Given the description of an element on the screen output the (x, y) to click on. 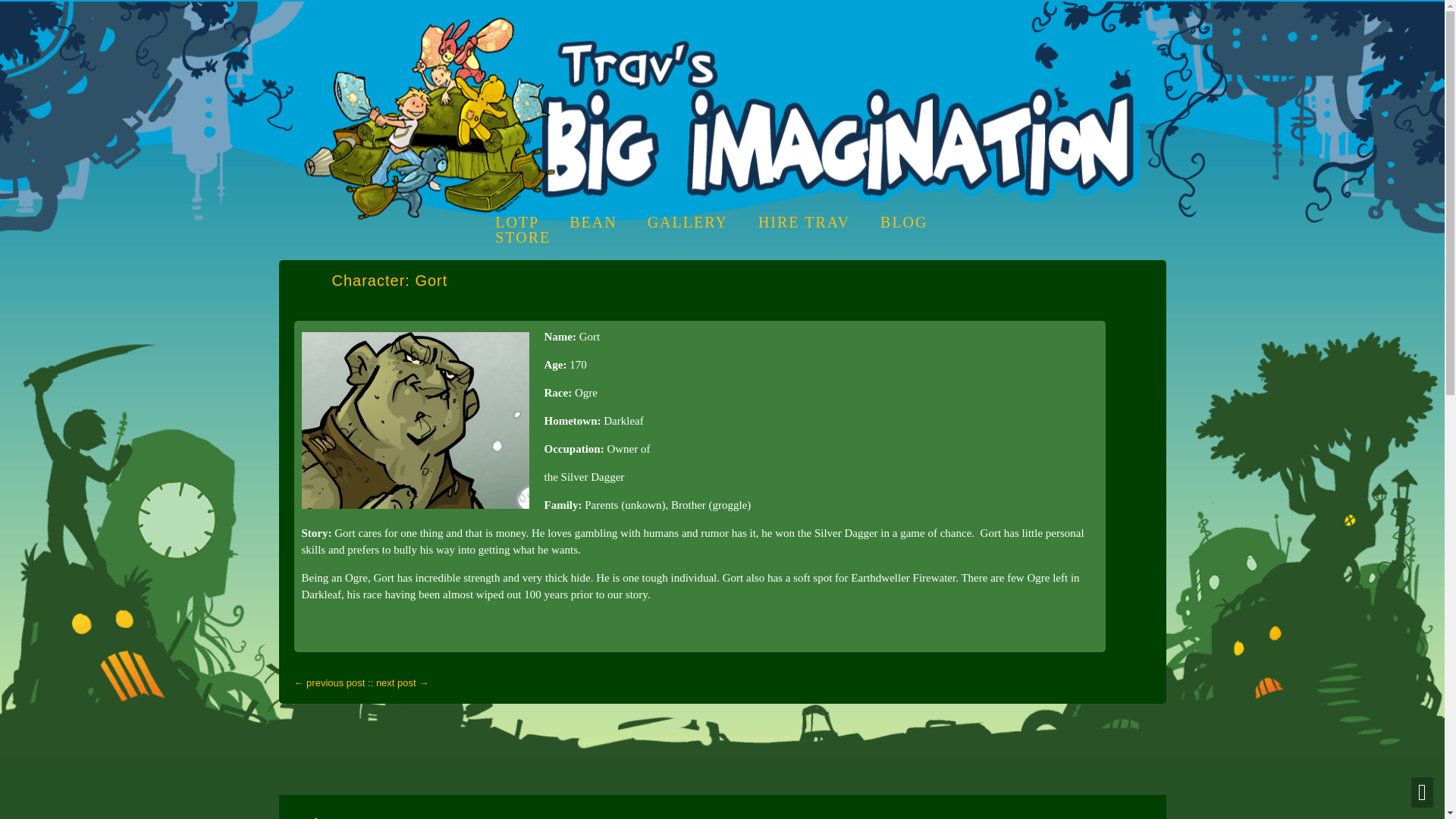
GALLERY (687, 221)
BEAN (592, 221)
BLOG (903, 221)
LOTP (516, 221)
gort (415, 420)
HIRE TRAV (804, 221)
STORE (522, 236)
